Given the description of an element on the screen output the (x, y) to click on. 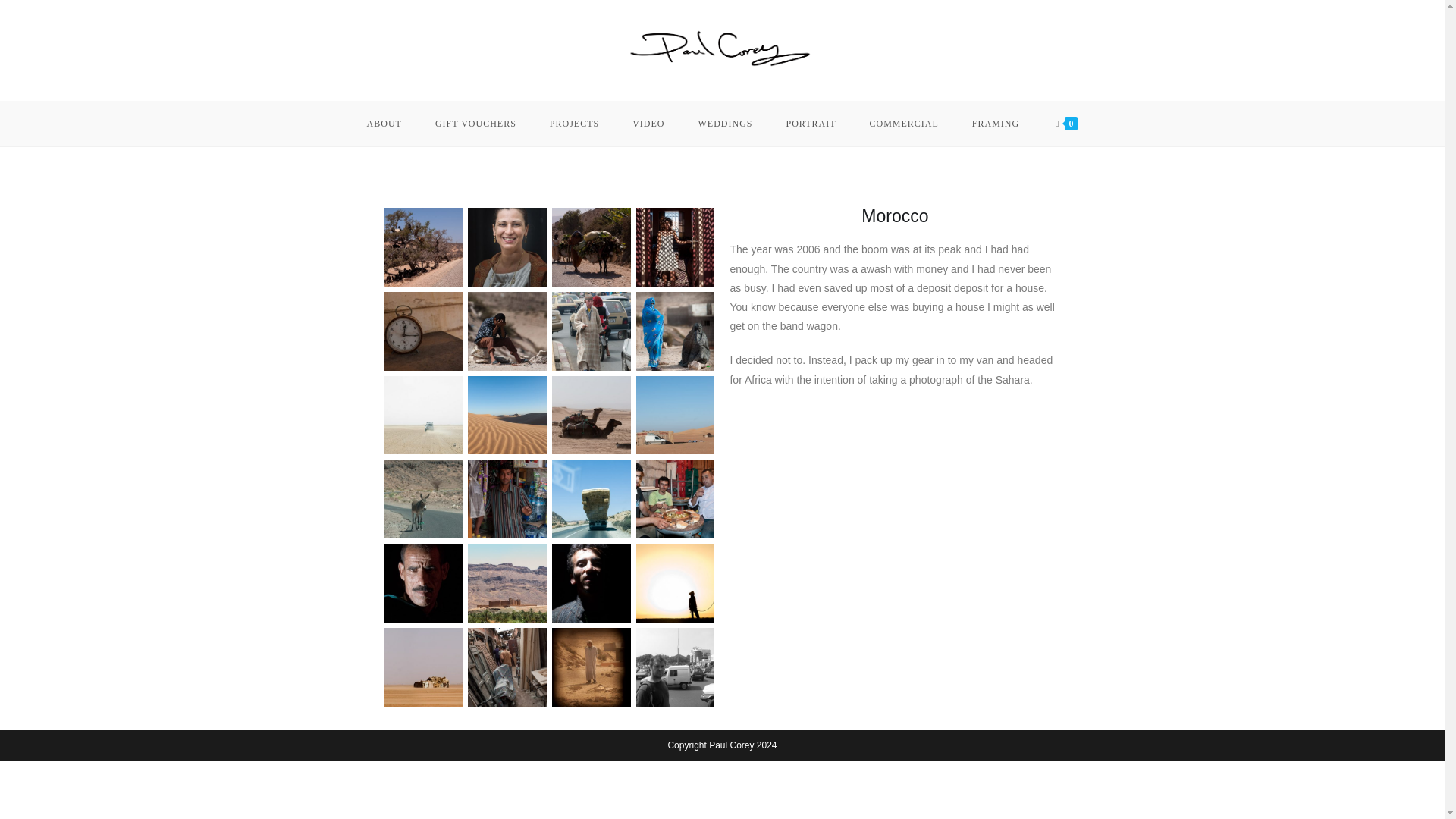
PORTRAIT (811, 123)
ABOUT (384, 123)
FRAMING (995, 123)
COMMERCIAL (903, 123)
WEDDINGS (725, 123)
PROJECTS (573, 123)
GIFT VOUCHERS (475, 123)
VIDEO (648, 123)
0 (1066, 123)
